Given the description of an element on the screen output the (x, y) to click on. 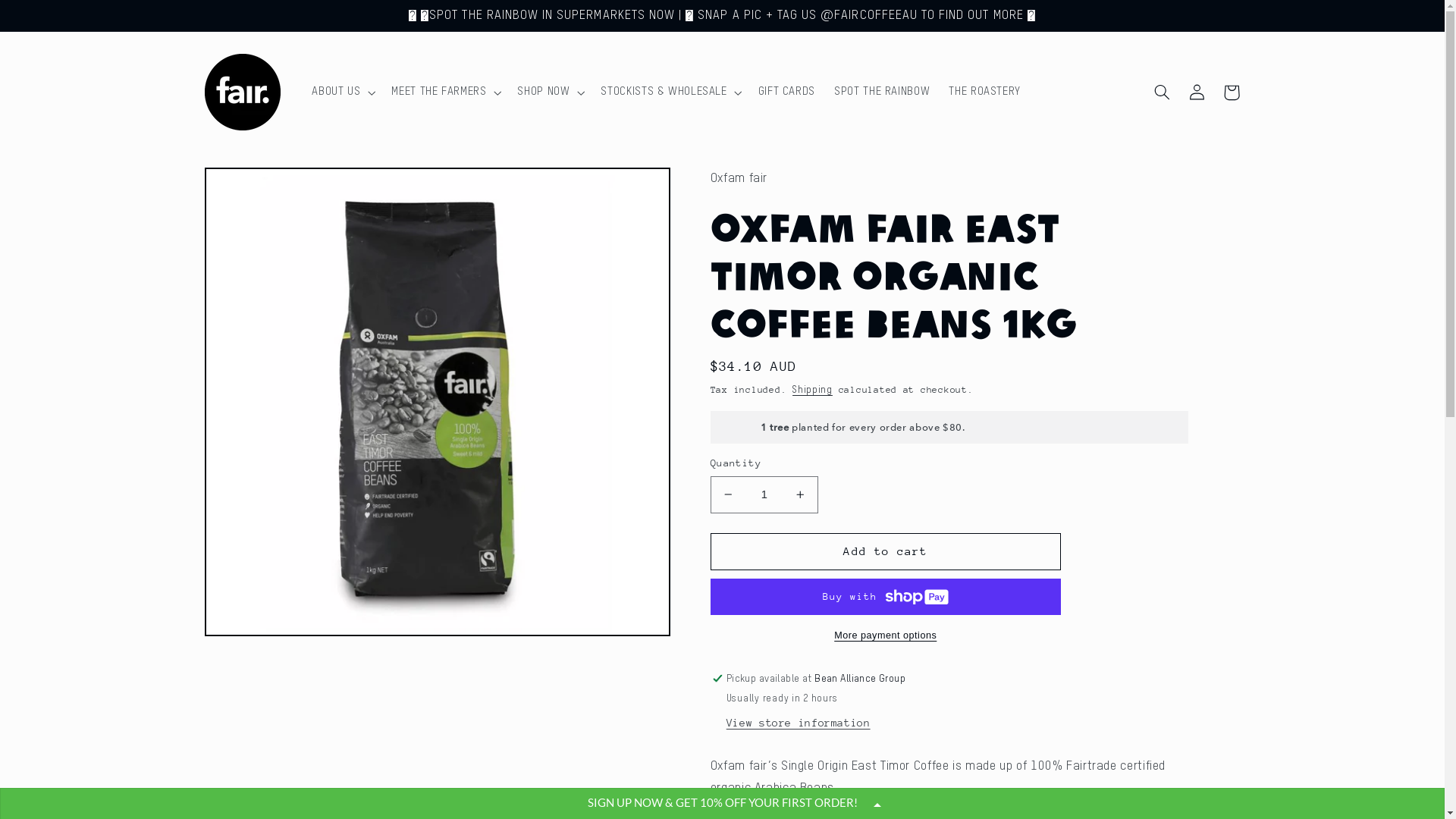
Add to cart Element type: text (885, 551)
Cart Element type: text (1231, 92)
More payment options Element type: text (885, 635)
GIFT CARDS Element type: text (786, 92)
SPOT THE RAINBOW Element type: text (882, 92)
Skip to product information Element type: text (252, 184)
Log in Element type: text (1196, 92)
THE ROASTERY Element type: text (984, 92)
View store information Element type: text (798, 723)
Shipping Element type: text (812, 390)
